Given the description of an element on the screen output the (x, y) to click on. 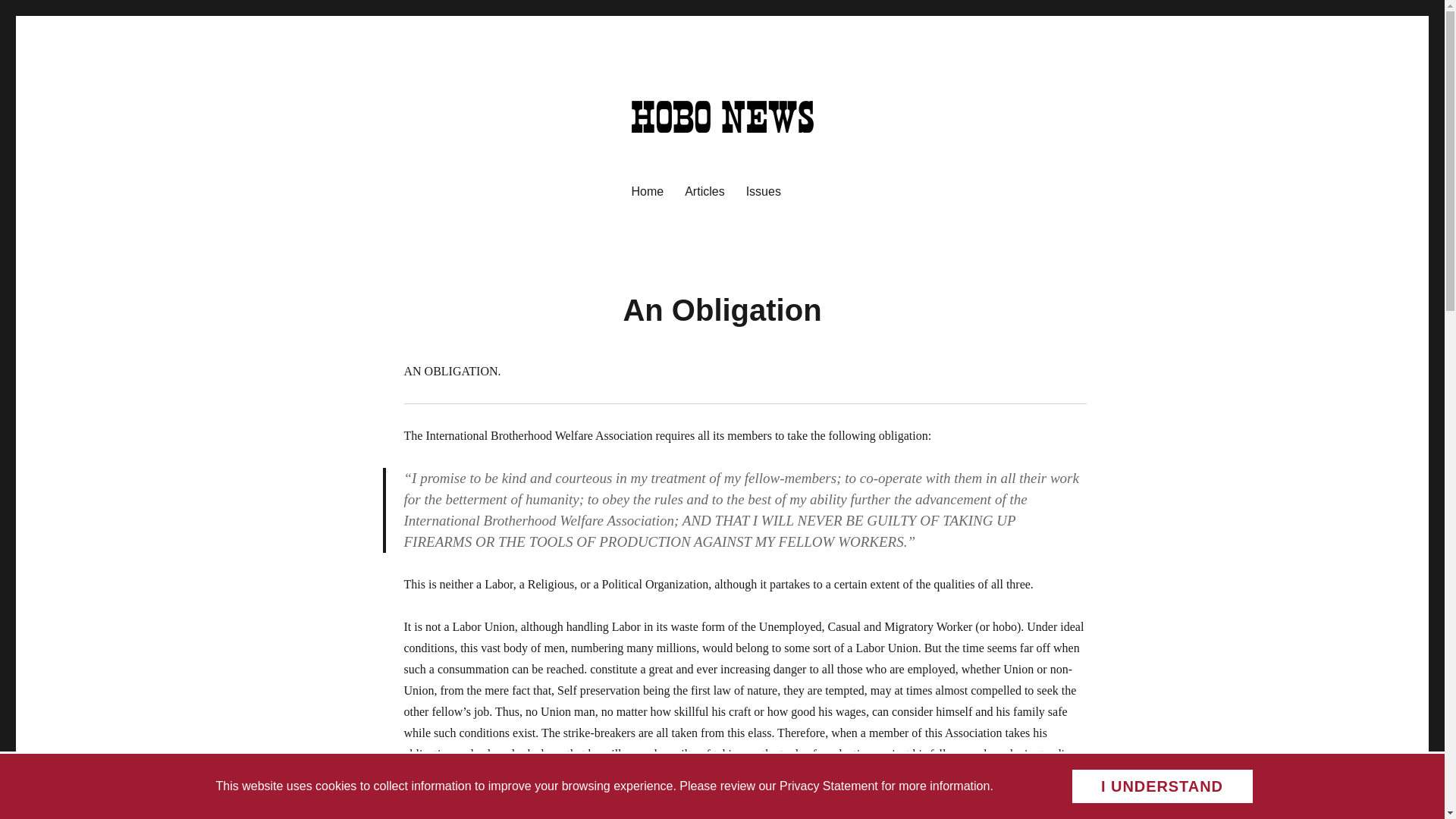
I UNDERSTAND (1161, 786)
Hobo News (687, 156)
Privacy Statement (827, 785)
Issues (763, 191)
Home (647, 191)
Articles (704, 191)
